Given the description of an element on the screen output the (x, y) to click on. 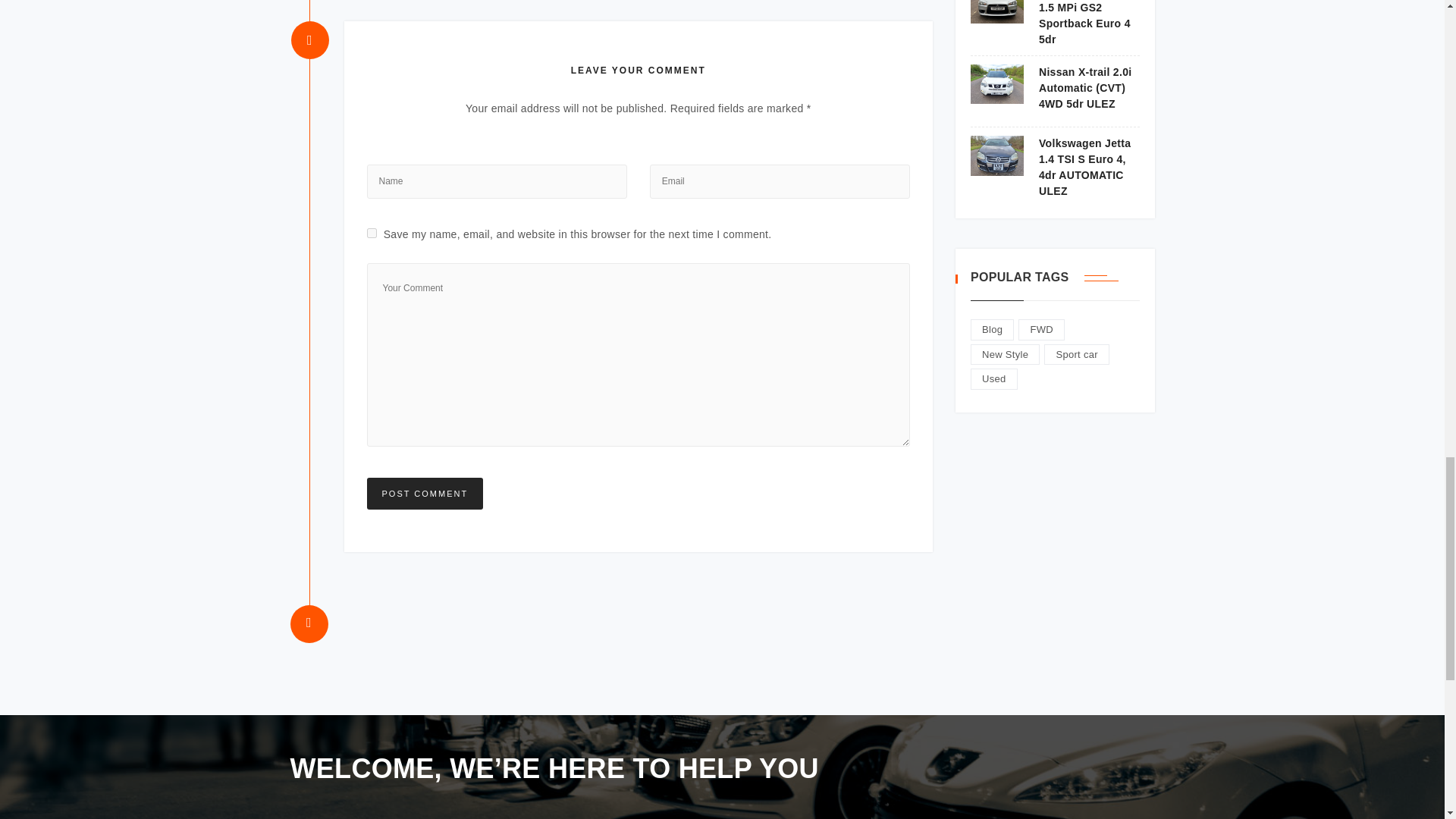
yes (371, 232)
Post Comment (424, 493)
Post Comment (424, 493)
